Given the description of an element on the screen output the (x, y) to click on. 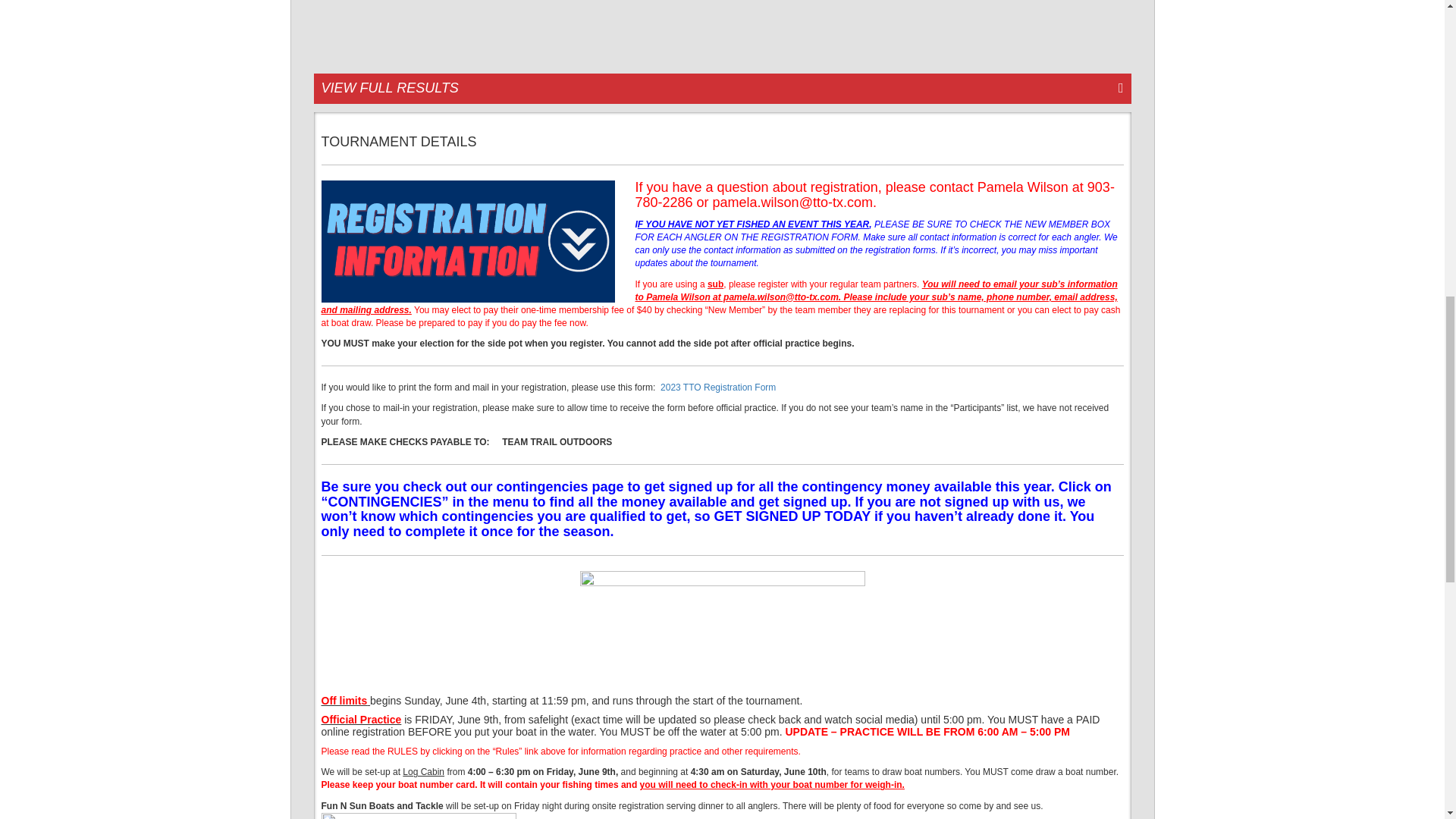
winners (722, 28)
VIEW FULL RESULTS (722, 88)
2023 TTO Registration Form (718, 387)
